Given the description of an element on the screen output the (x, y) to click on. 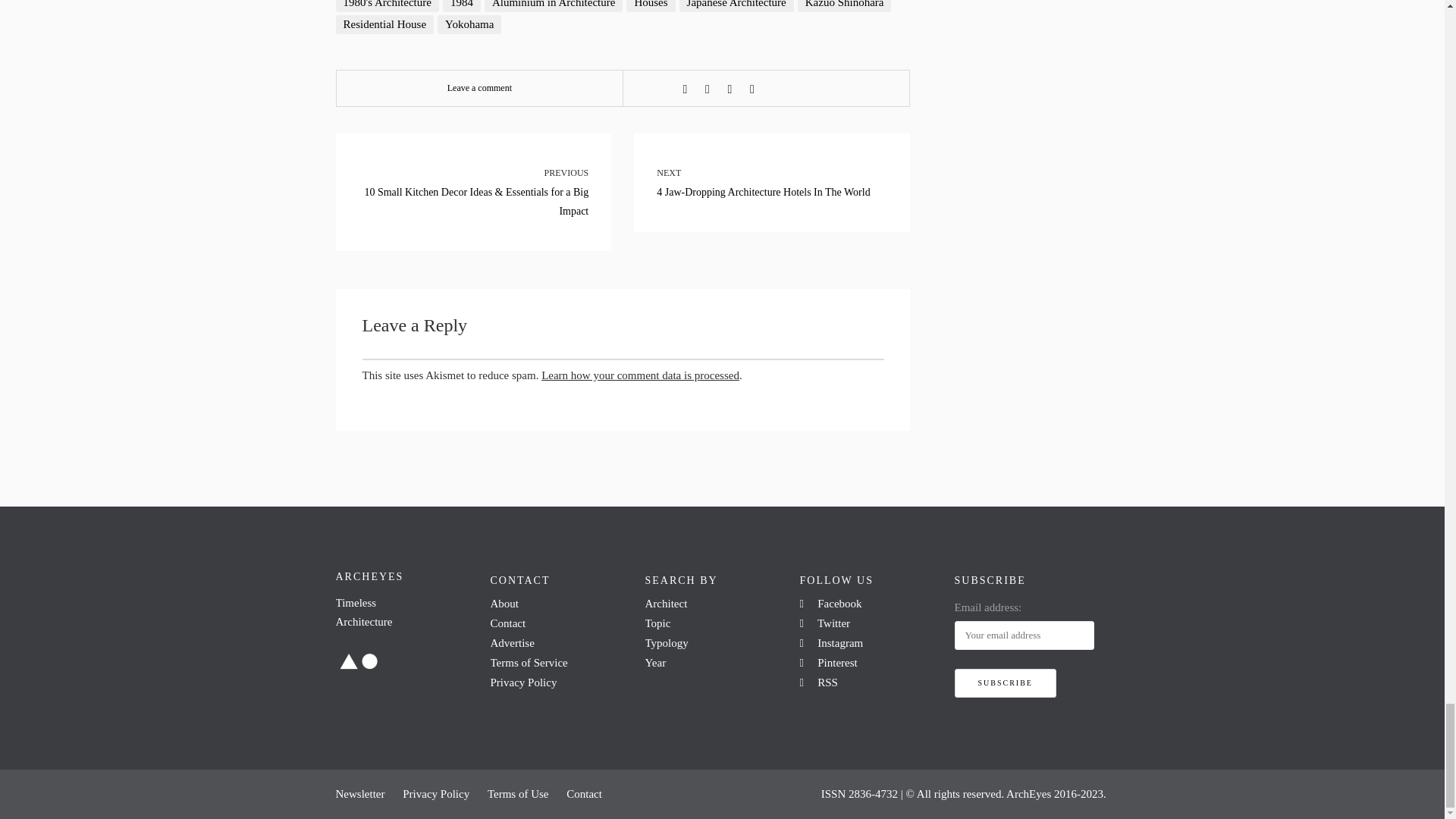
Subscribe (1004, 683)
